Given the description of an element on the screen output the (x, y) to click on. 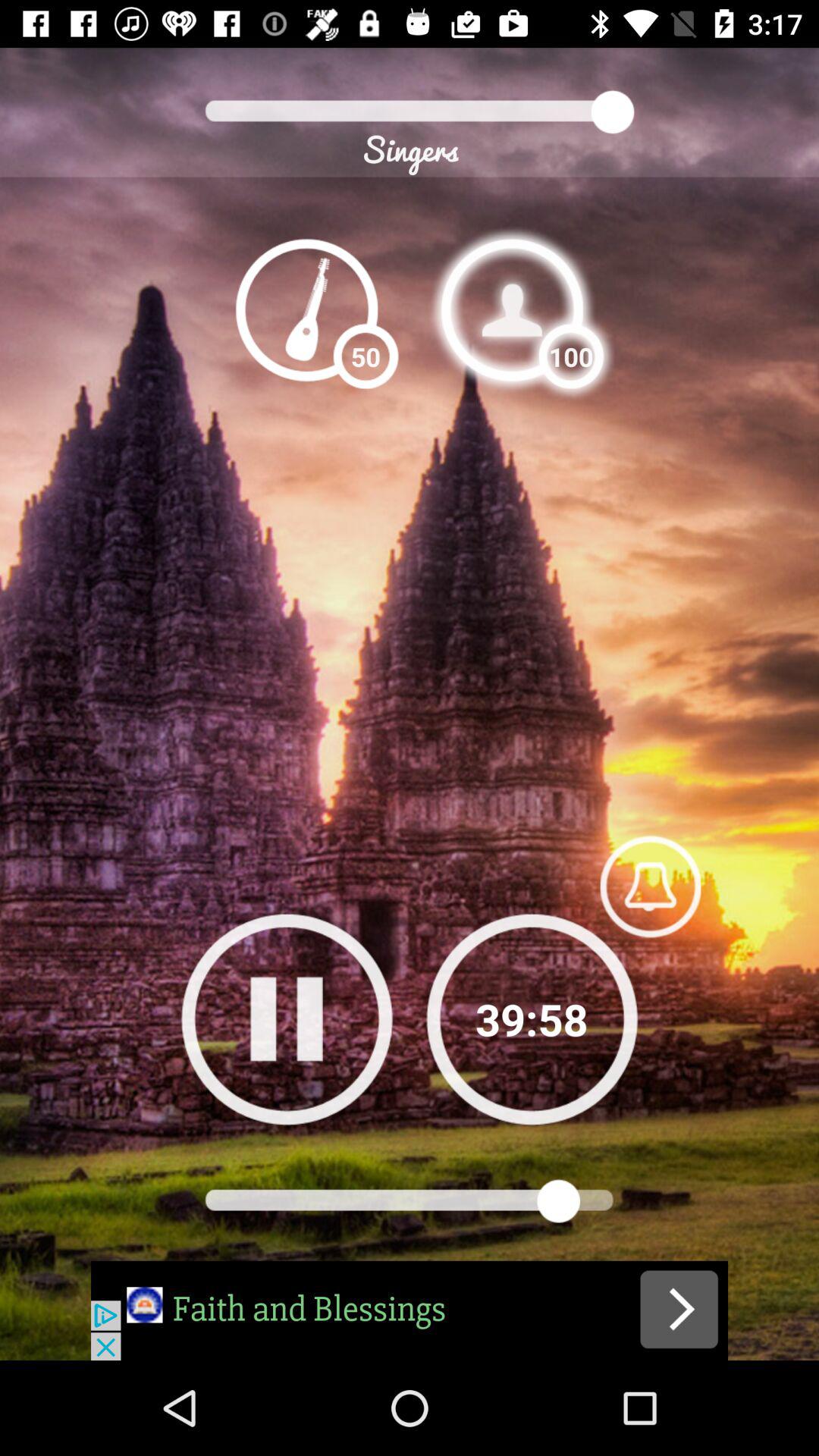
set alarm (649, 885)
